Given the description of an element on the screen output the (x, y) to click on. 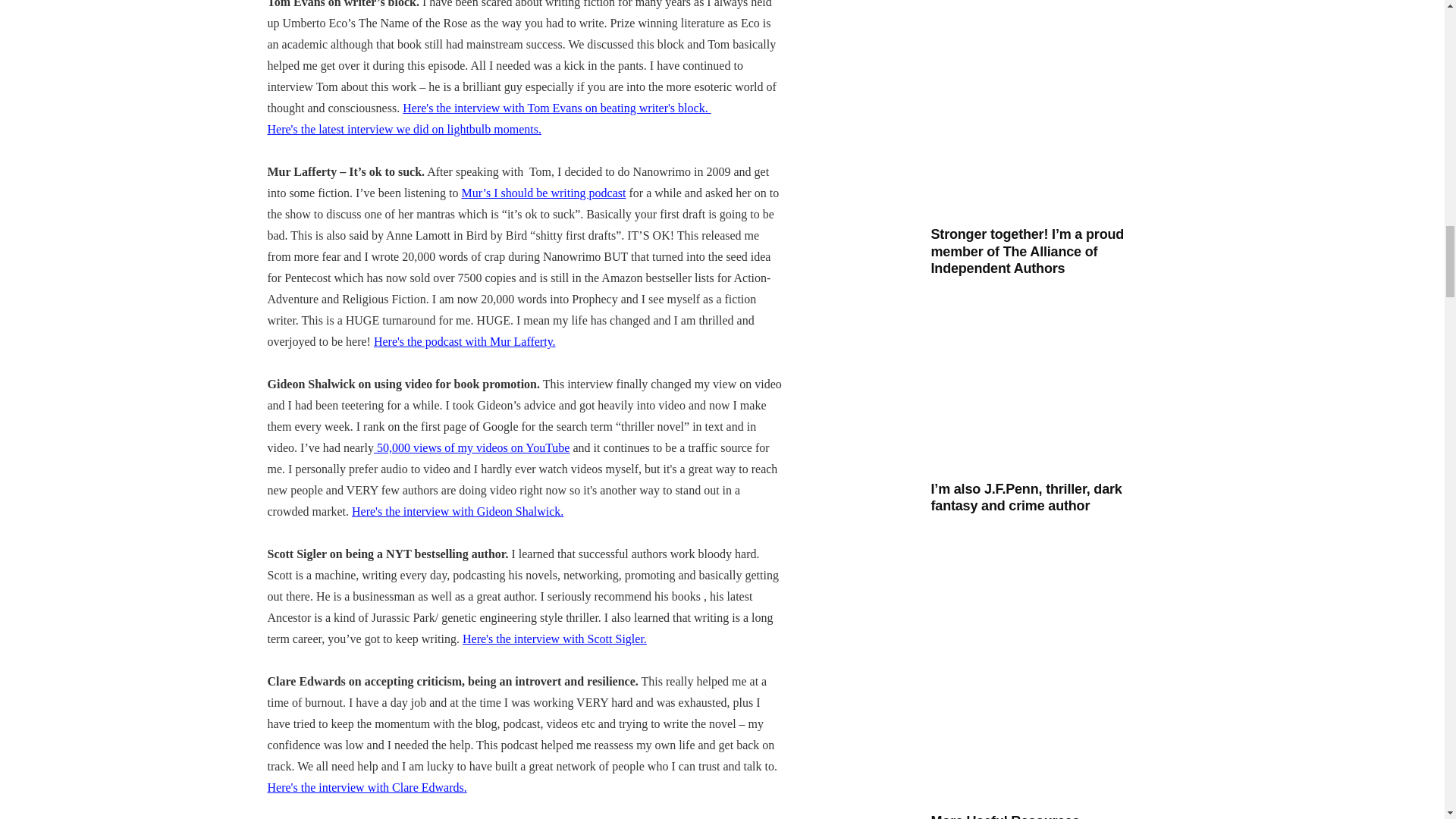
lightbulb moments (403, 128)
mur lafferty (465, 341)
50,000 views of my videos on YouTube (472, 447)
Here's the latest interview we did on lightbulb moments. (403, 128)
Here's the interview with Gideon Shalwick. (457, 511)
Here's the interview with Scott Sigler. (554, 638)
Here's the interview with Clare Edwards. (365, 787)
i should be writing (543, 192)
gideon shalwick video book promotion (457, 511)
tom evans writers block (556, 107)
scott sigler (554, 638)
clare edwards (365, 787)
Here's the podcast with Mur Lafferty. (465, 341)
